Given the description of an element on the screen output the (x, y) to click on. 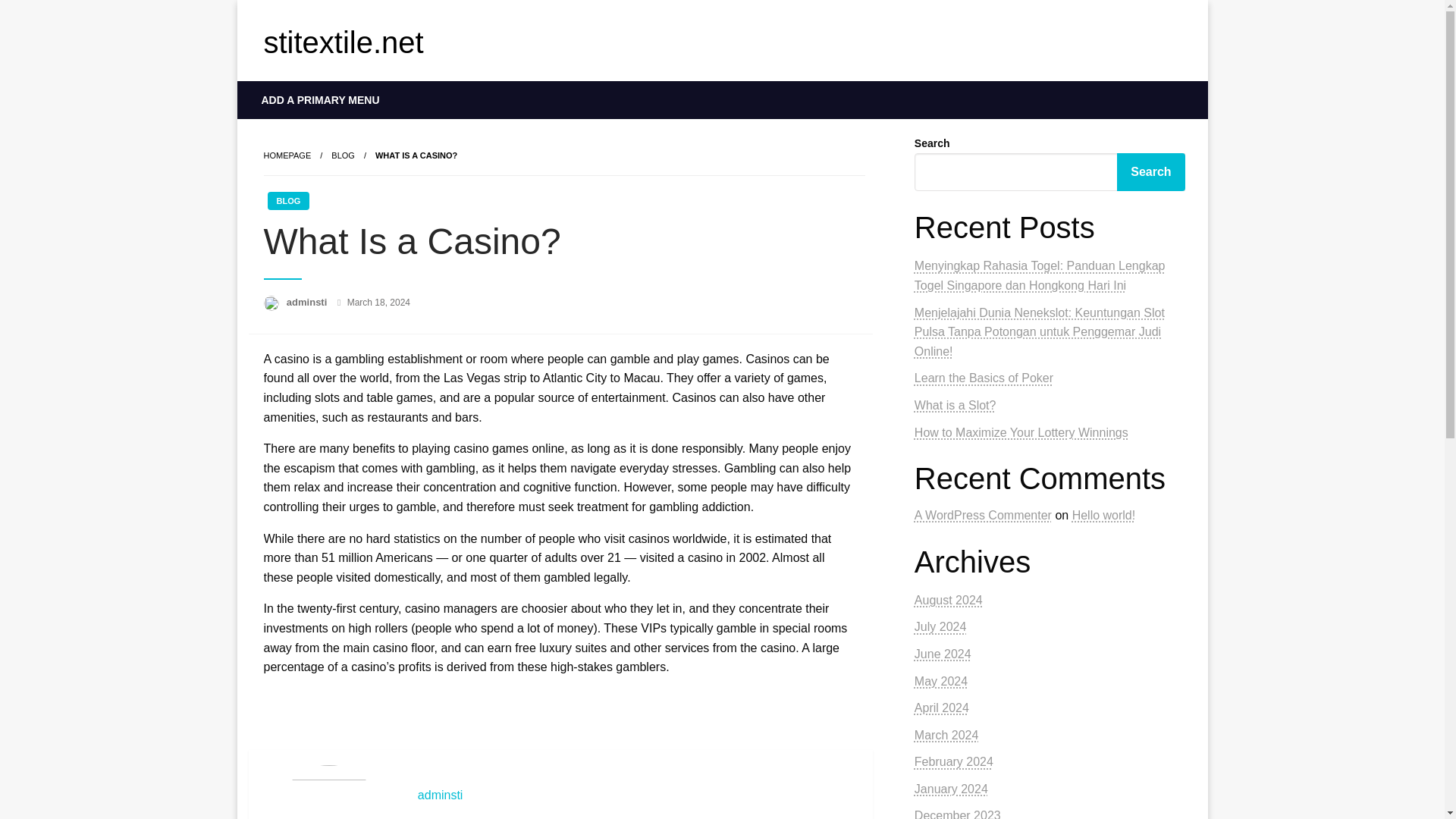
ADD A PRIMARY MENU (320, 99)
May 2024 (941, 680)
Homepage (287, 154)
Blog (343, 154)
BLOG (287, 200)
stitextile.net (343, 41)
Learn the Basics of Poker (983, 377)
Search (1150, 171)
Hello world! (1103, 514)
